Given the description of an element on the screen output the (x, y) to click on. 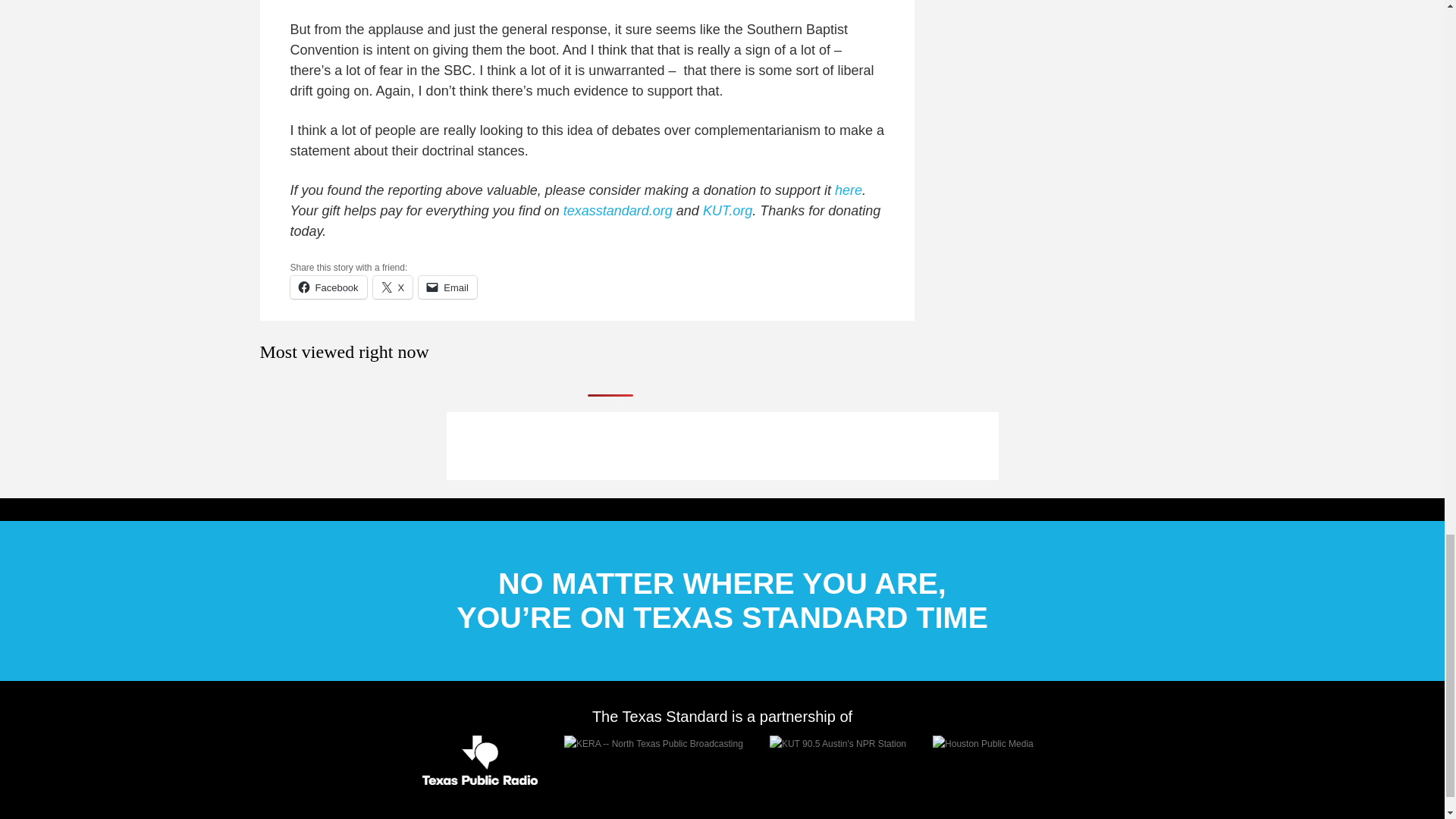
Click to share on Facebook (327, 287)
Click to email a link to a friend (448, 287)
Click to share on X (392, 287)
